Given the description of an element on the screen output the (x, y) to click on. 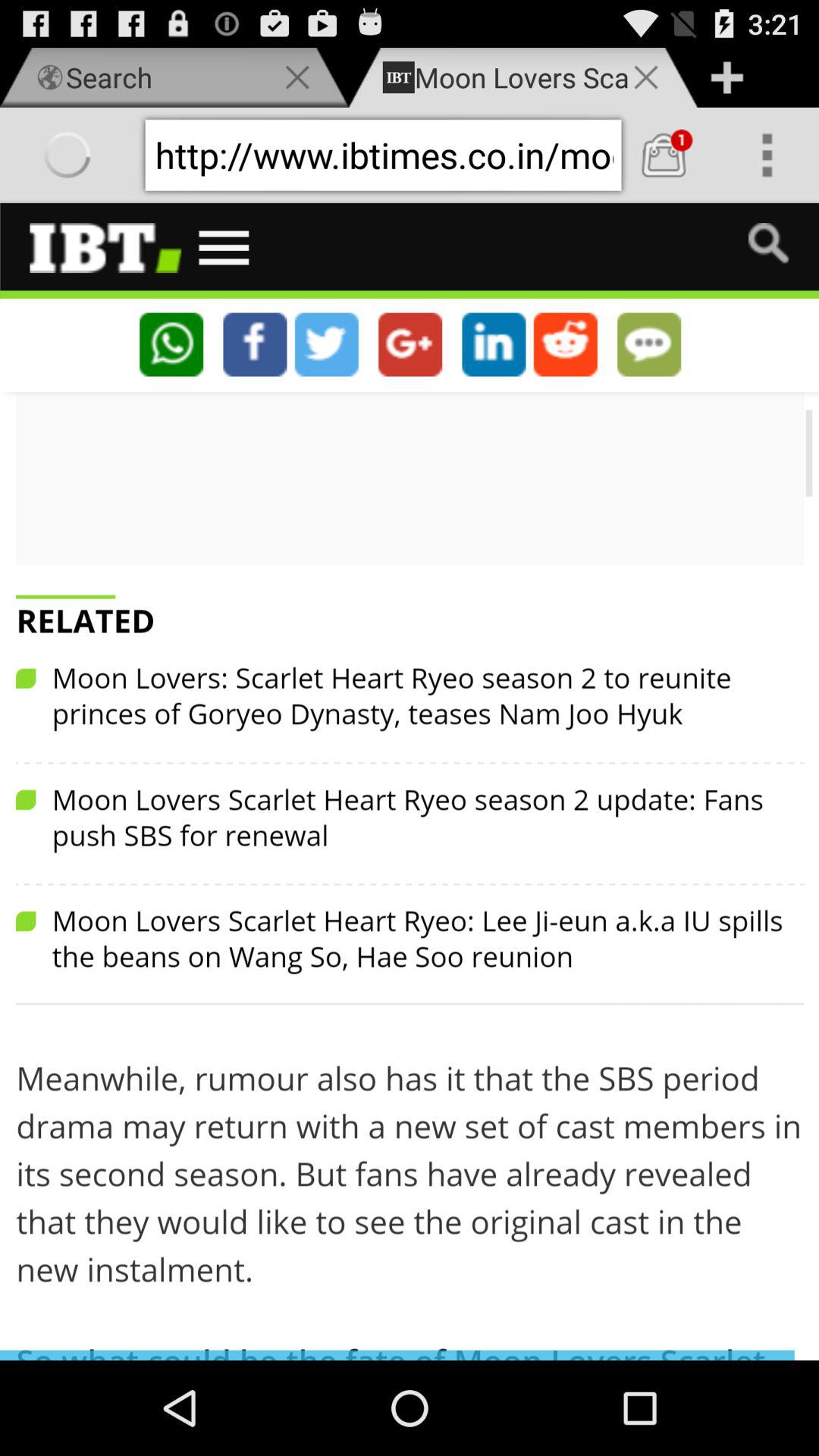
show more options (767, 155)
